Given the description of an element on the screen output the (x, y) to click on. 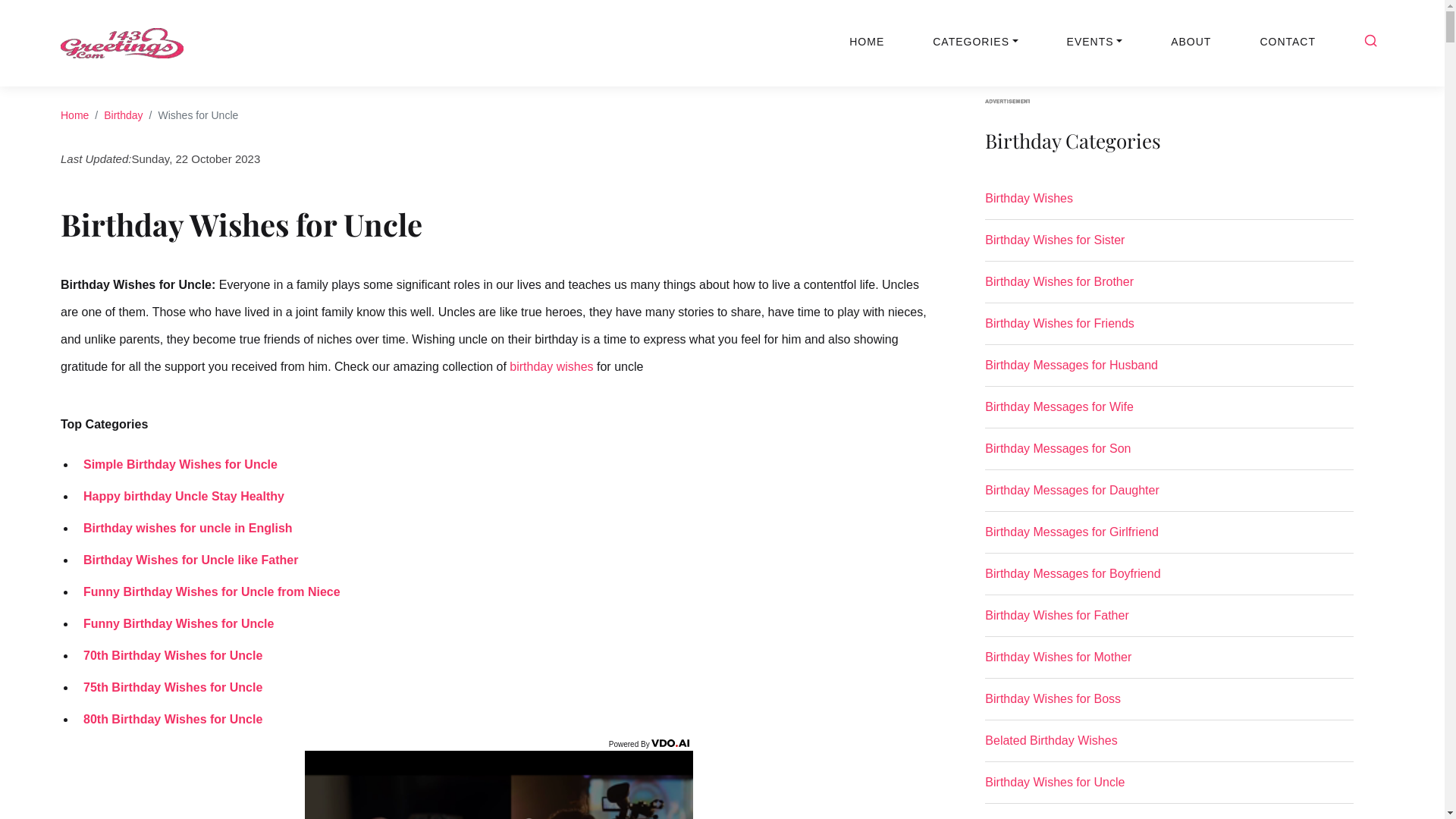
75th Birthday Wishes for Uncle Element type: text (168, 686)
HOME Element type: text (866, 42)
CONTACT Element type: text (1287, 42)
80th Birthday Wishes for Uncle Element type: text (168, 718)
Birthday Wishes for Father Element type: text (1169, 621)
Birthday Categories Element type: text (1169, 149)
Birthday Messages for Wife Element type: text (1169, 413)
ABOUT Element type: text (1190, 42)
Birthday wishes for uncle in English Element type: text (183, 527)
Birthday Element type: text (122, 115)
Birthday Wishes for Sister Element type: text (1169, 246)
Birthday Wishes for Mother Element type: text (1169, 663)
Birthday Messages for Husband Element type: text (1169, 371)
Birthday Wishes Element type: text (1169, 204)
Birthday Wishes for Boss Element type: text (1169, 705)
Birthday Messages for Son Element type: text (1169, 454)
Home Element type: text (74, 115)
Birthday Wishes for Friends Element type: text (1169, 329)
Birthday Wishes for Uncle Element type: text (1169, 788)
Happy birthday Uncle Stay Healthy Element type: text (179, 495)
Birthday Messages for Girlfriend Element type: text (1169, 538)
CATEGORIES Element type: text (974, 42)
birthday wishes Element type: text (551, 365)
Belated Birthday Wishes Element type: text (1169, 746)
EVENTS Element type: text (1094, 42)
Funny Birthday Wishes for Uncle from Niece Element type: text (207, 591)
Funny Birthday Wishes for Uncle Element type: text (174, 623)
Birthday Messages for Boyfriend Element type: text (1169, 579)
Simple Birthday Wishes for Uncle Element type: text (176, 464)
Birthday Messages for Daughter Element type: text (1169, 496)
Birthday Wishes for Brother Element type: text (1169, 288)
Birthday Wishes for Uncle like Father Element type: text (186, 559)
70th Birthday Wishes for Uncle Element type: text (168, 655)
